Given the description of an element on the screen output the (x, y) to click on. 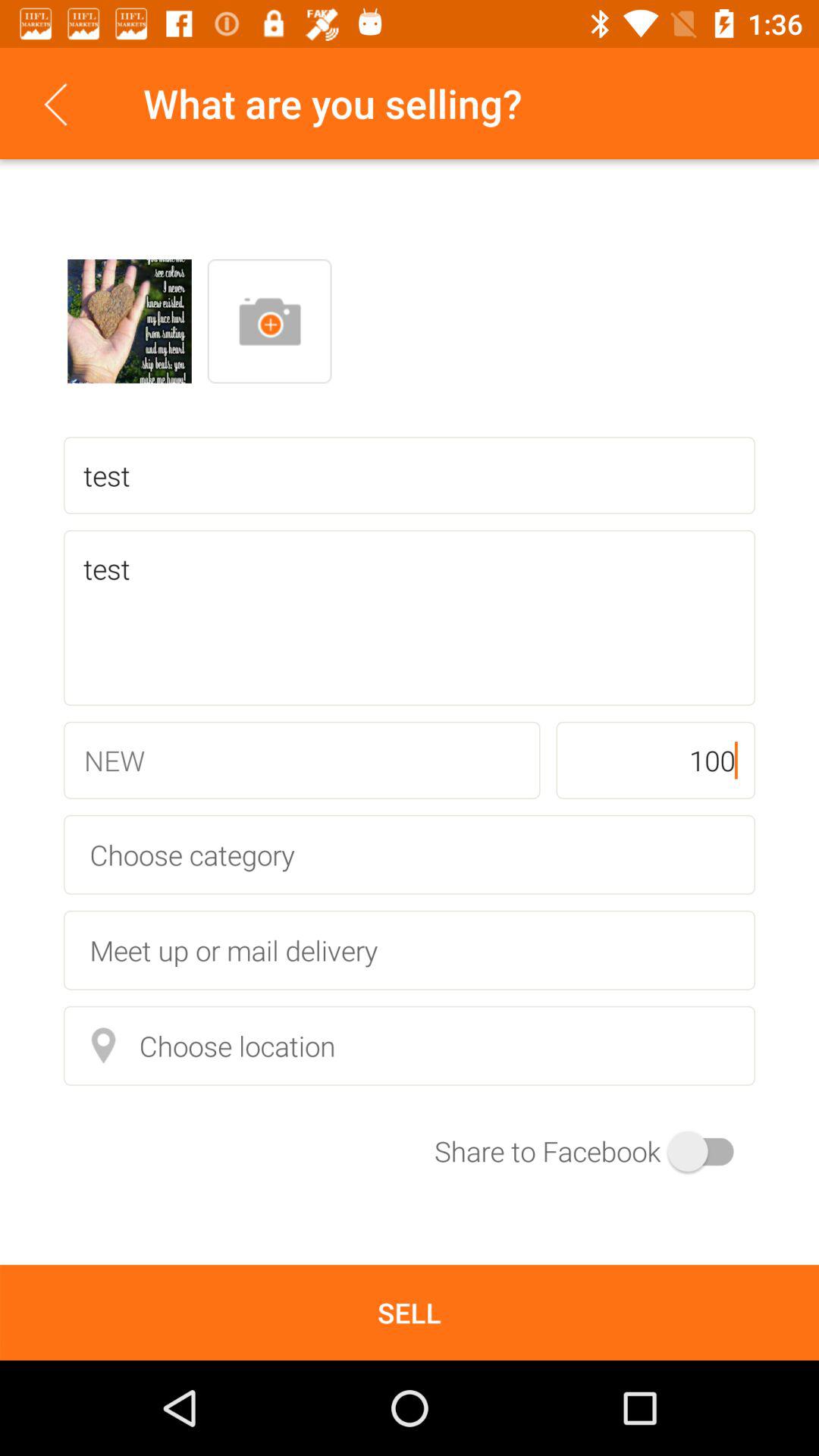
show image (129, 320)
